Given the description of an element on the screen output the (x, y) to click on. 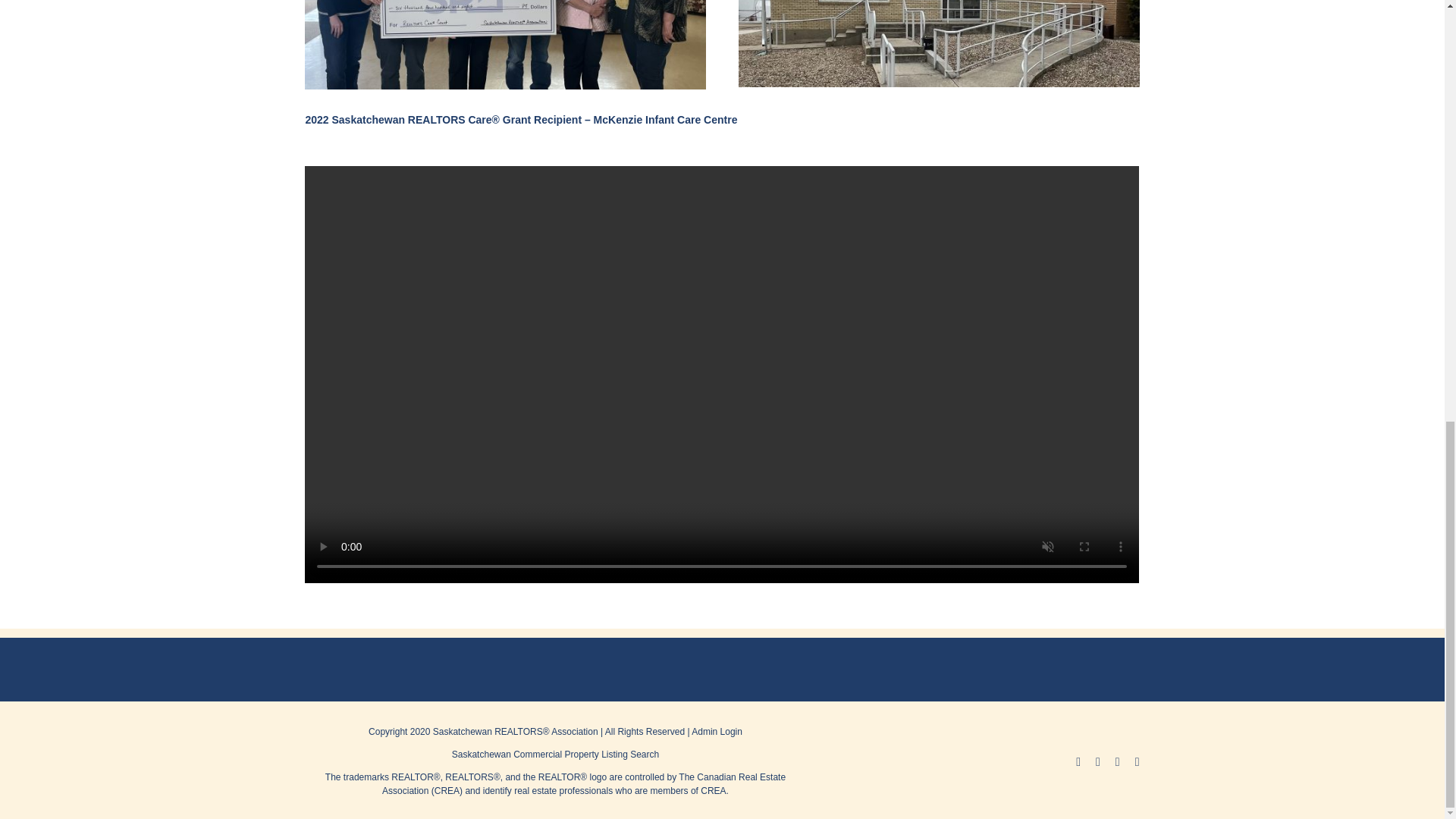
Image 20240521 201112 9fbf6252 (938, 43)
Image 20240521 191001 D6edb8a4 (504, 44)
